Given the description of an element on the screen output the (x, y) to click on. 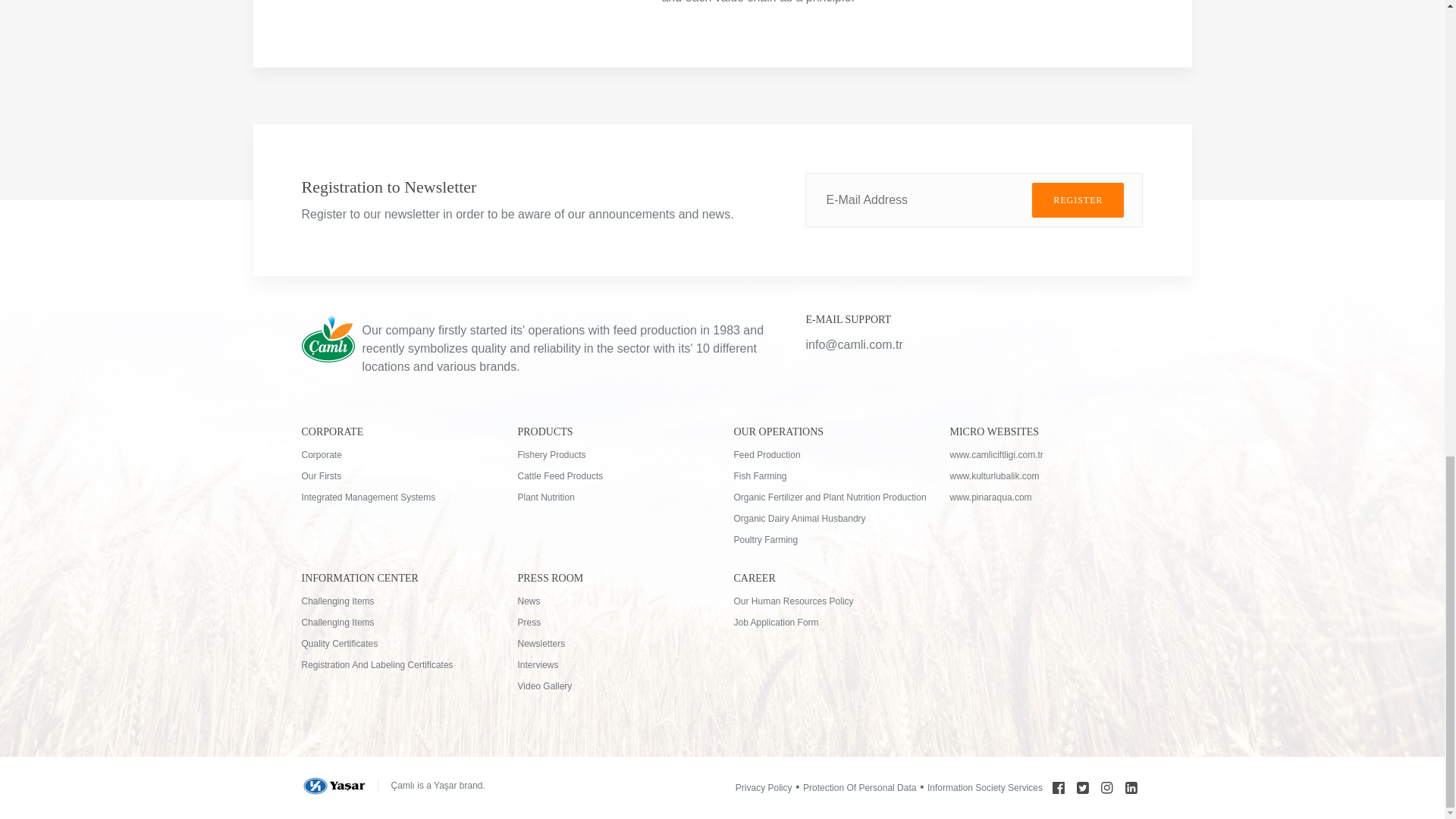
Plant Nutrition (613, 497)
Organic Dairy Animal Husbandry (830, 518)
Integrated Management Systems (398, 497)
Instagram (1106, 787)
Our Firsts (398, 476)
Feed Production (830, 454)
LinkedIn (1130, 787)
Corporate (398, 454)
Cattle Feed Products (613, 476)
www.camliciftligi.com.tr (1045, 454)
Facebook (1058, 787)
Twitter (1082, 787)
Fish Farming (830, 476)
REGISTER (1078, 199)
Poultry Farming (830, 540)
